Given the description of an element on the screen output the (x, y) to click on. 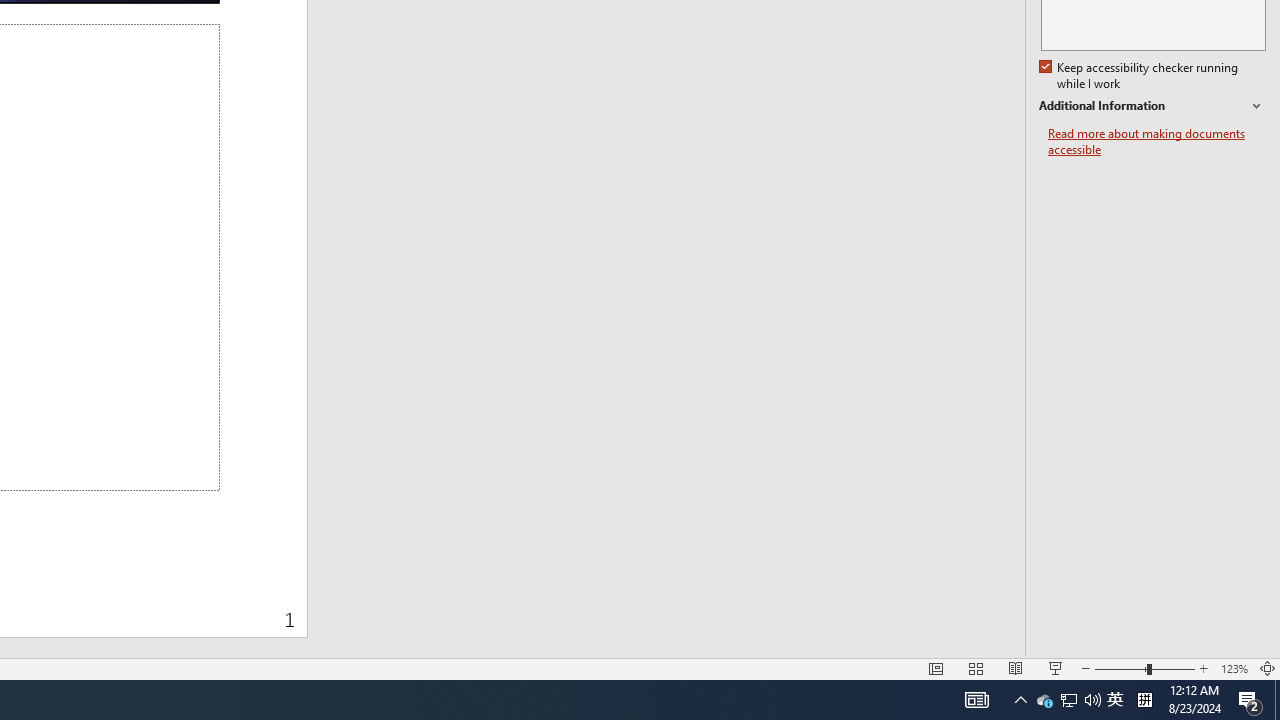
Zoom 123% (1234, 668)
